Given the description of an element on the screen output the (x, y) to click on. 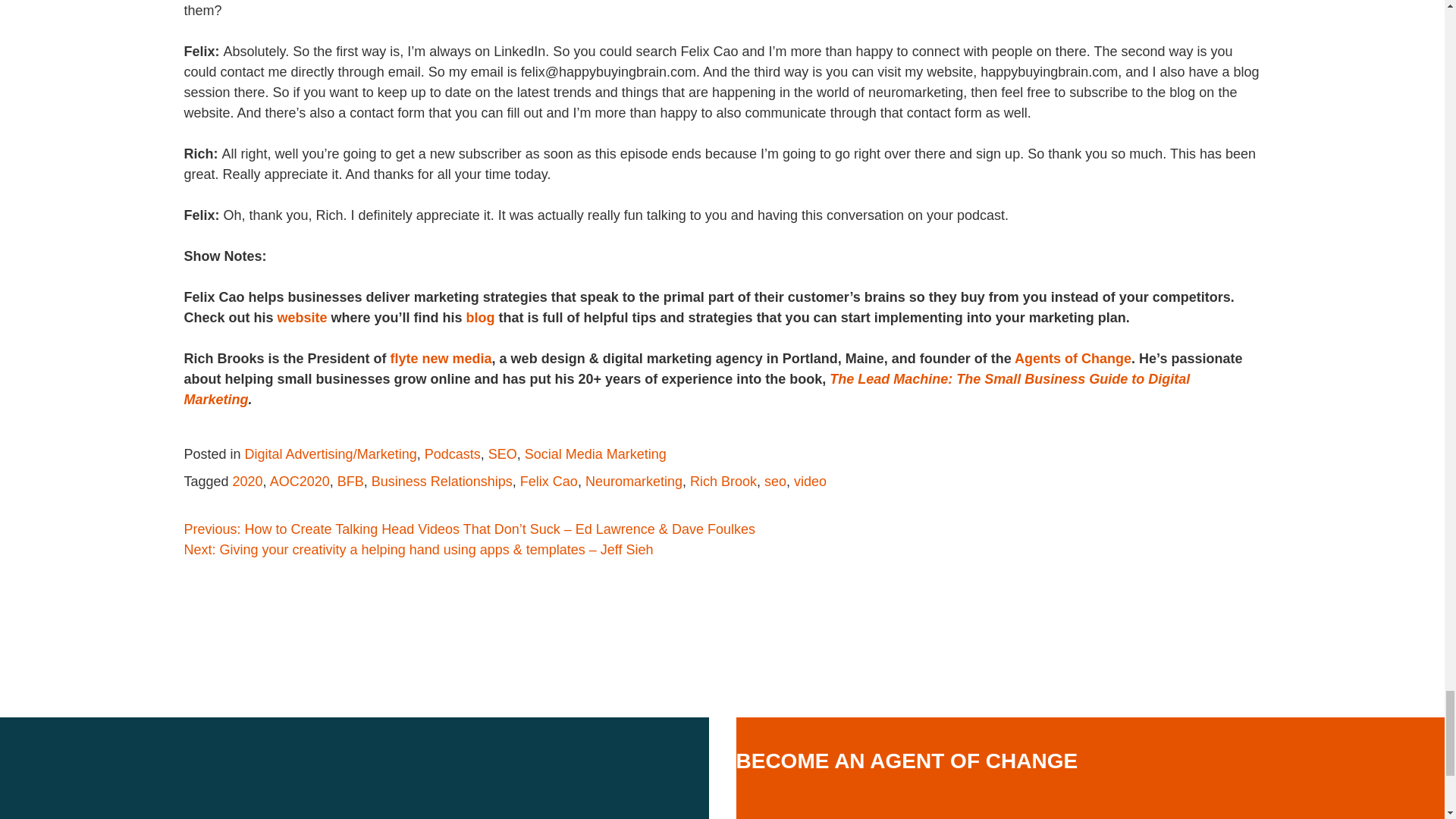
Podcasts (452, 453)
Agents of Change (1072, 358)
SEO (501, 453)
Felix Cao (548, 481)
website (302, 317)
2020 (247, 481)
Social Media Marketing (595, 453)
BFB (350, 481)
flyte new media (441, 358)
